Given the description of an element on the screen output the (x, y) to click on. 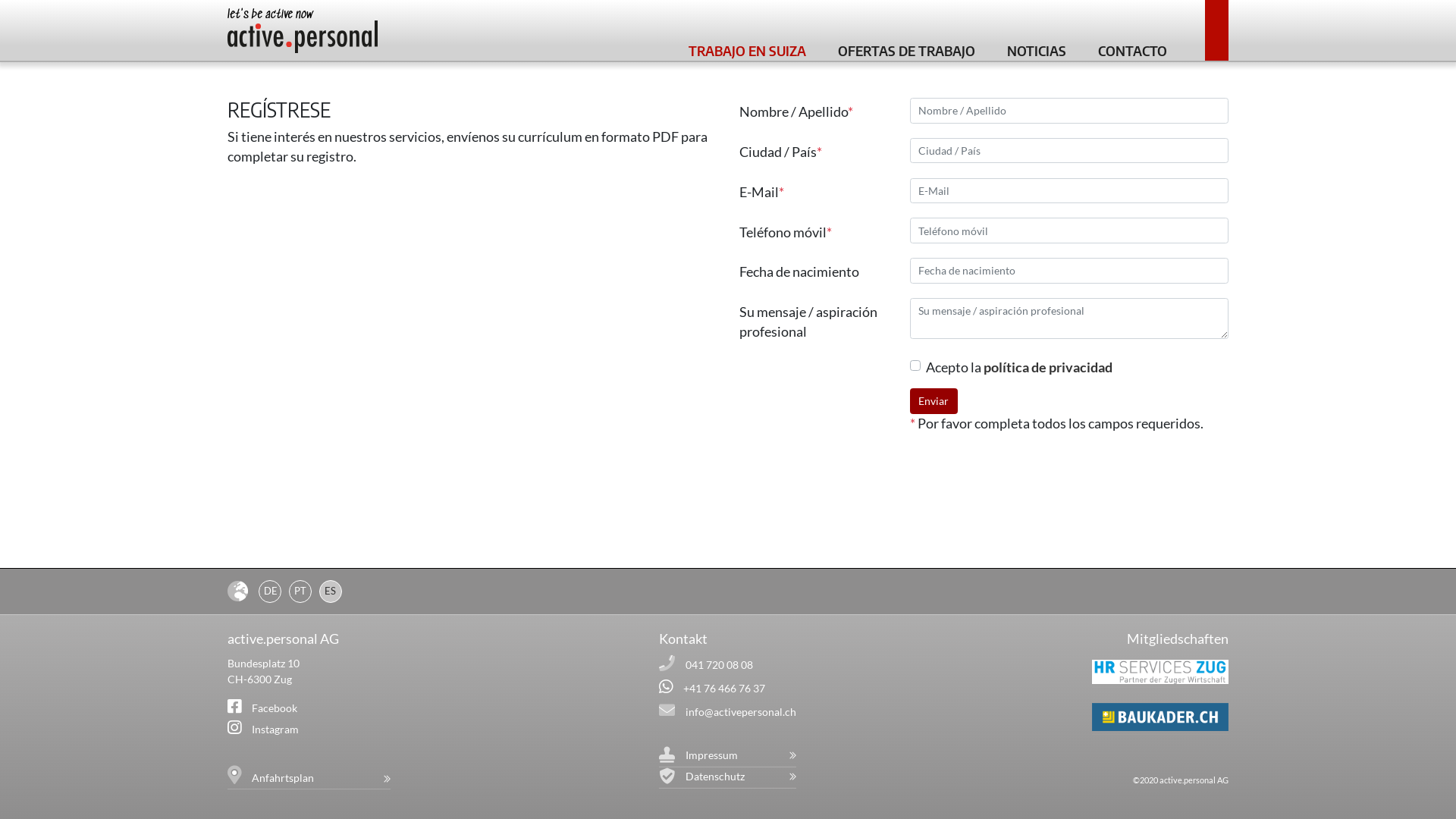
OFERTAS DE TRABAJO Element type: text (906, 48)
Datenschutz Element type: text (740, 776)
PT Element type: text (299, 591)
Facebook Element type: text (274, 707)
DE Element type: text (269, 591)
Enviar Element type: text (933, 401)
TRABAJO EN SUIZA Element type: text (746, 48)
+41 76 466 76 37 Element type: text (724, 687)
041 720 08 08 Element type: text (719, 664)
Anfahrtsplan Element type: text (320, 777)
let's be active now Element type: text (302, 36)
NOTICIAS Element type: text (1036, 48)
info@activepersonal.ch Element type: text (740, 711)
ES Element type: text (330, 591)
Impressum Element type: text (740, 754)
CONTACTO Element type: text (1132, 48)
Instagram Element type: text (274, 728)
